Given the description of an element on the screen output the (x, y) to click on. 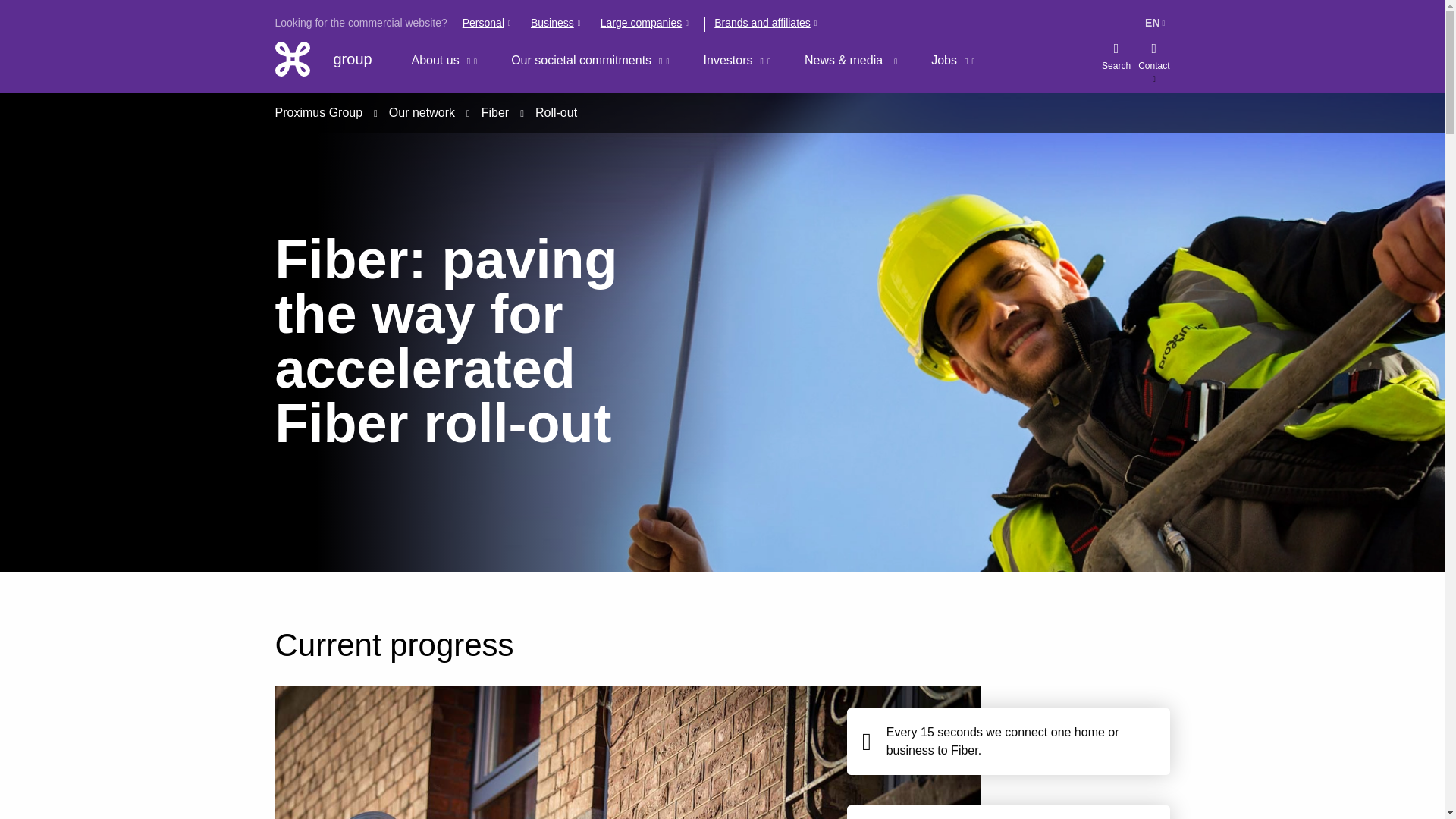
group (322, 58)
Fiber (494, 112)
About us (446, 60)
Proximus Group (318, 112)
Large companies (646, 30)
EN (1156, 23)
Skip to main content (8, 11)
Business (557, 30)
Our network (421, 112)
Personal (488, 30)
